Given the description of an element on the screen output the (x, y) to click on. 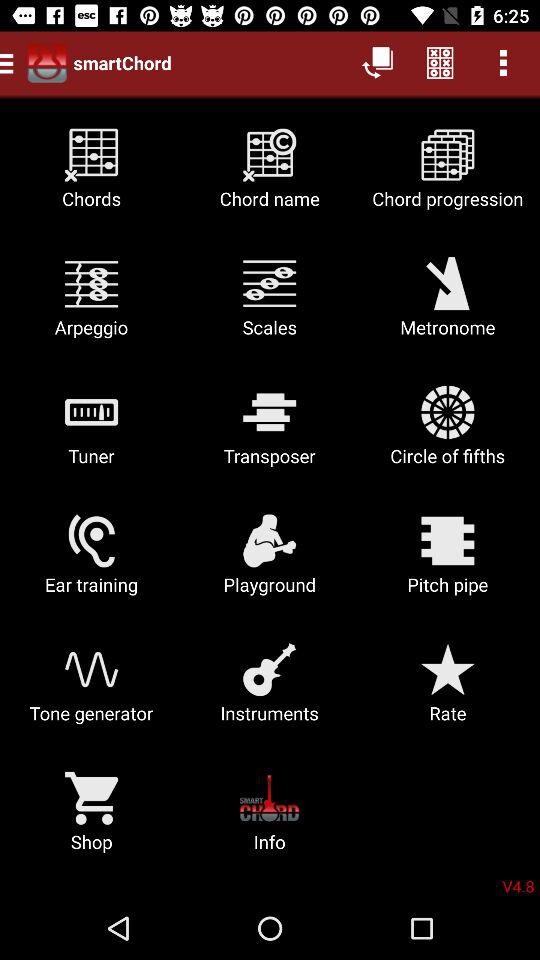
flip to the chord progression icon (447, 175)
